Given the description of an element on the screen output the (x, y) to click on. 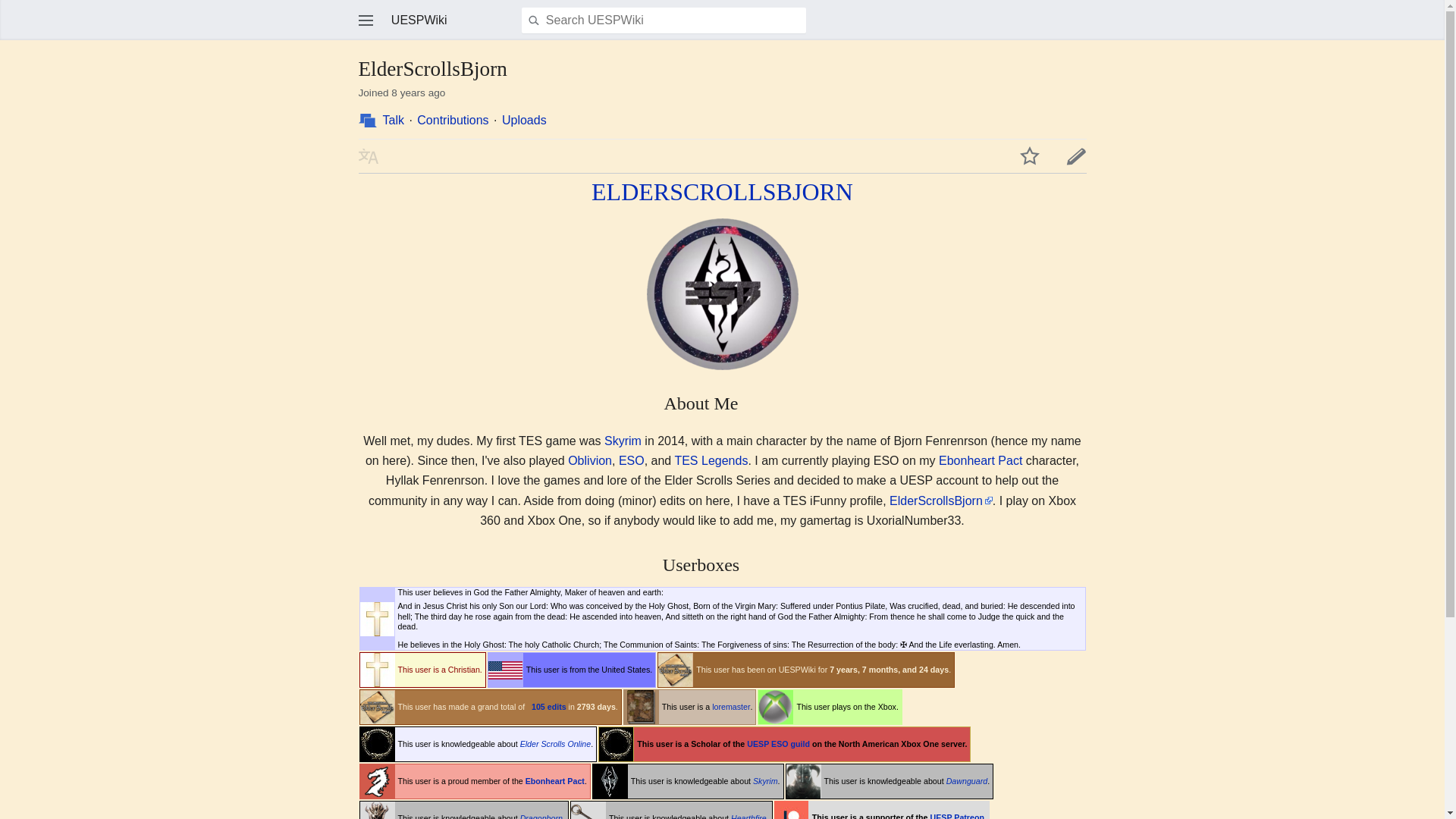
Online:Online (631, 460)
Legends:Legends (711, 460)
Oblivion:Oblivion (589, 460)
Watch this page (1029, 156)
loremaster (730, 706)
105 (537, 706)
Skyrim:Skyrim (623, 440)
edits (556, 706)
Edit the lead section of this page (1075, 156)
Edit (1075, 156)
Uploads (524, 119)
TES Legends (711, 460)
ElderScrollsBjorn (940, 500)
Contributions (451, 119)
Open main menu (366, 20)
